Given the description of an element on the screen output the (x, y) to click on. 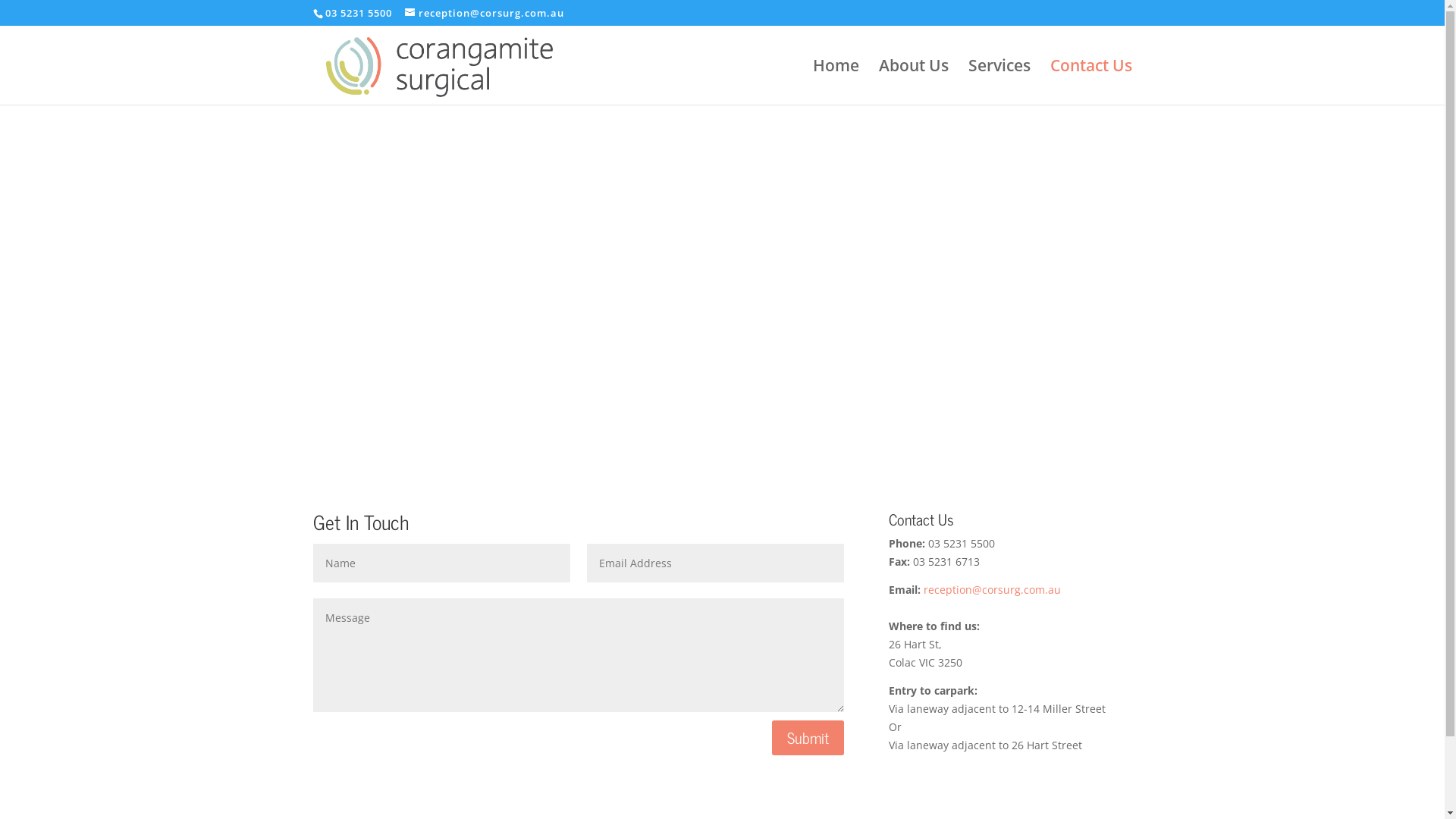
reception@corsurg.com.au Element type: text (991, 589)
Contact Us Element type: text (1090, 81)
Services Element type: text (998, 81)
Home Element type: text (835, 81)
reception@corsurg.com.au Element type: text (484, 12)
Submit Element type: text (807, 737)
About Us Element type: text (912, 81)
